Given the description of an element on the screen output the (x, y) to click on. 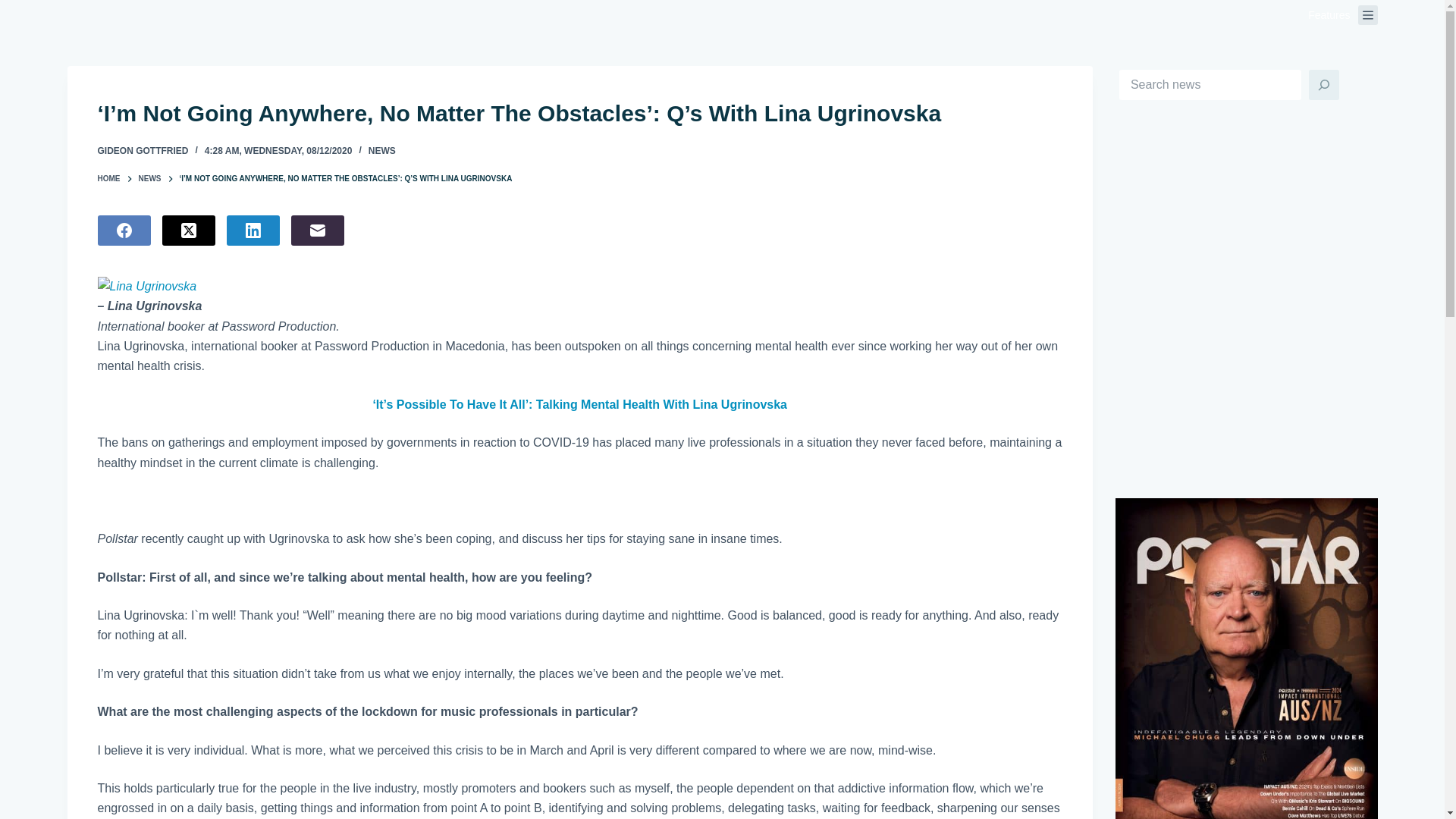
Skip to content (15, 7)
Lina Ugrinovska (579, 306)
Posts by Gideon Gottfried (142, 150)
